Given the description of an element on the screen output the (x, y) to click on. 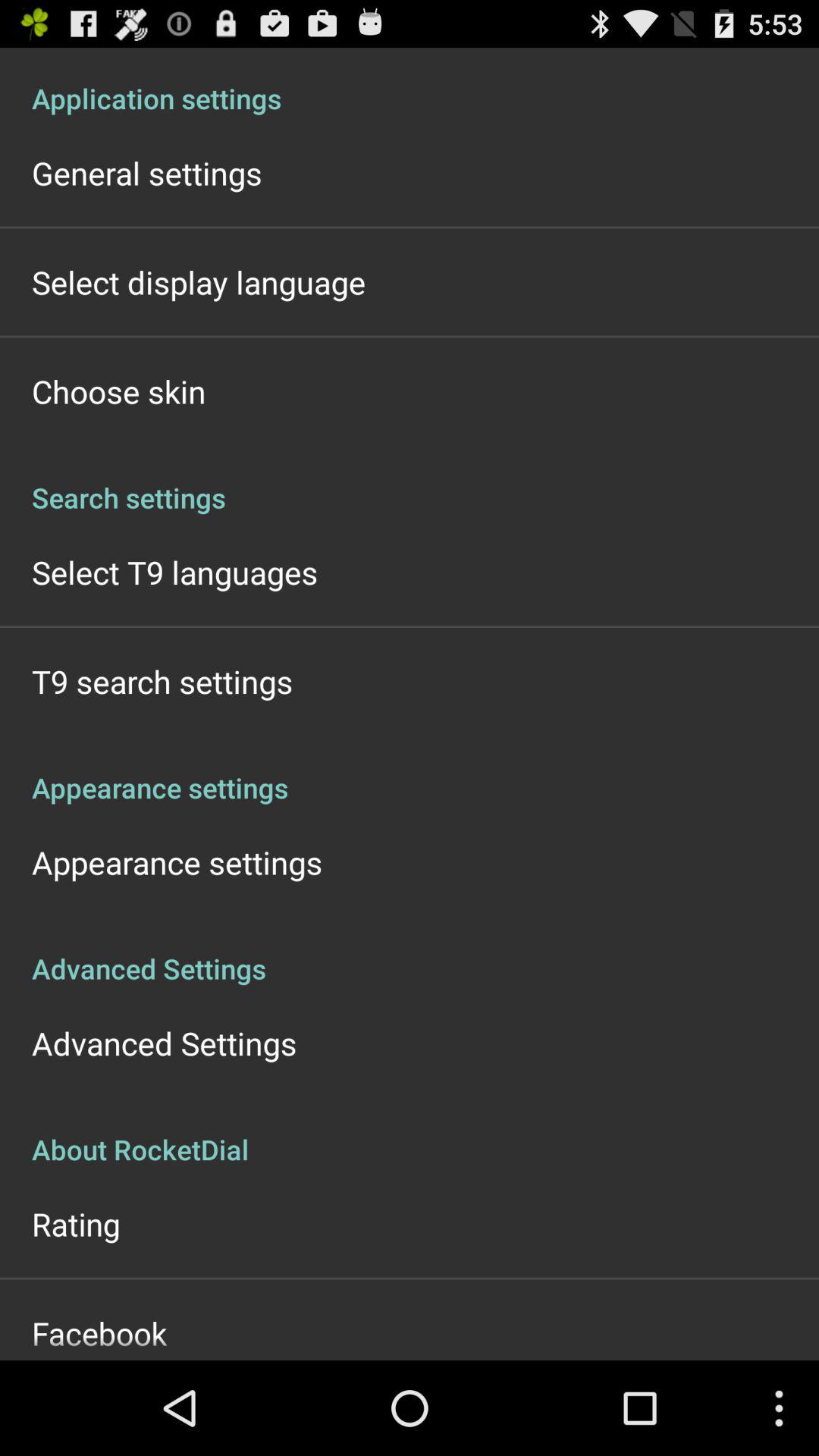
scroll until facebook app (99, 1332)
